Given the description of an element on the screen output the (x, y) to click on. 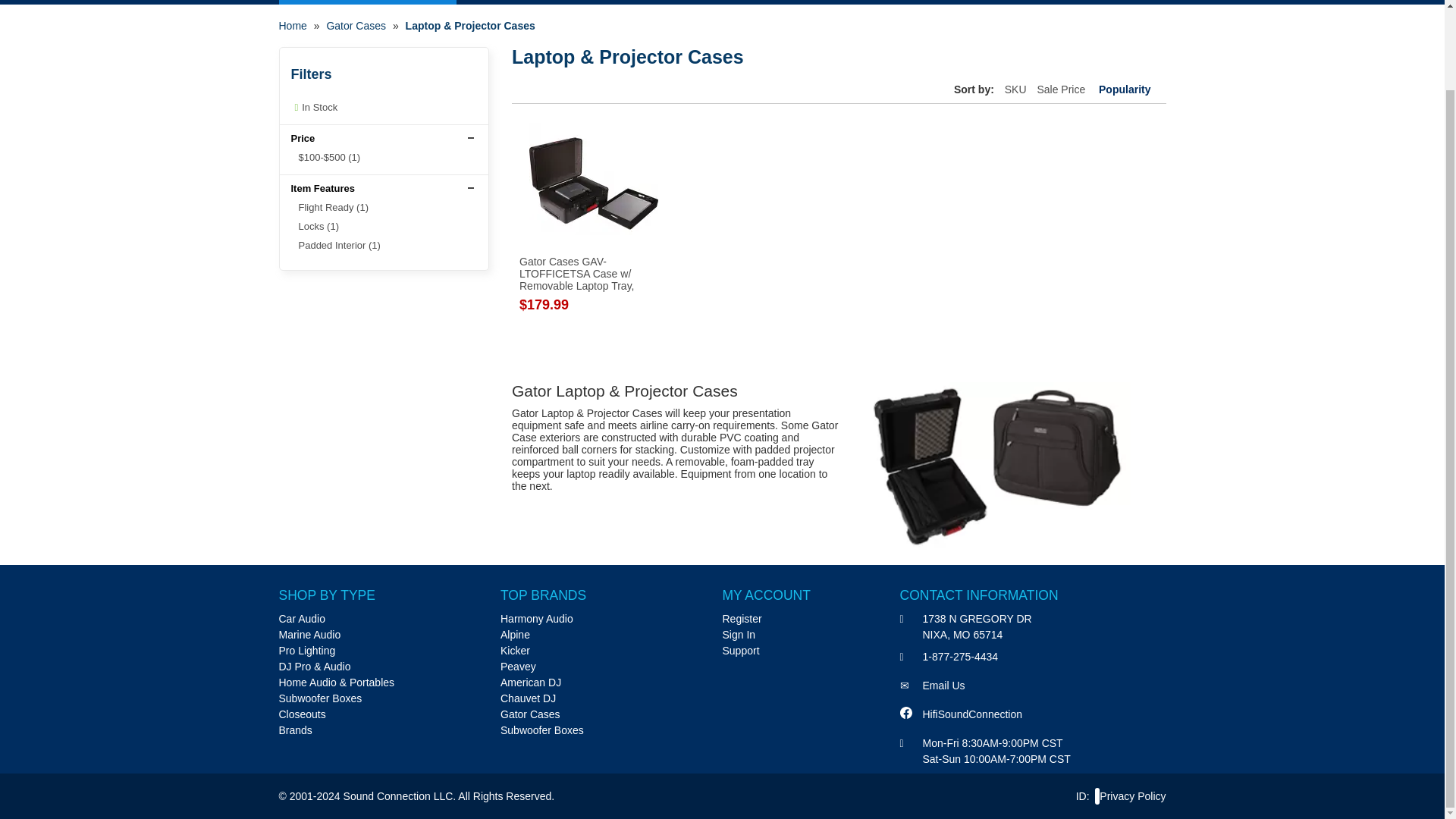
Sort by: Popularity (1123, 89)
Sort by: Sale Price (1060, 89)
Gator Cases (355, 25)
Sort by: SKU (1015, 89)
Register (741, 618)
Home (293, 25)
Brands (296, 729)
filters (390, 74)
In Stock (314, 107)
category description (839, 457)
